Given the description of an element on the screen output the (x, y) to click on. 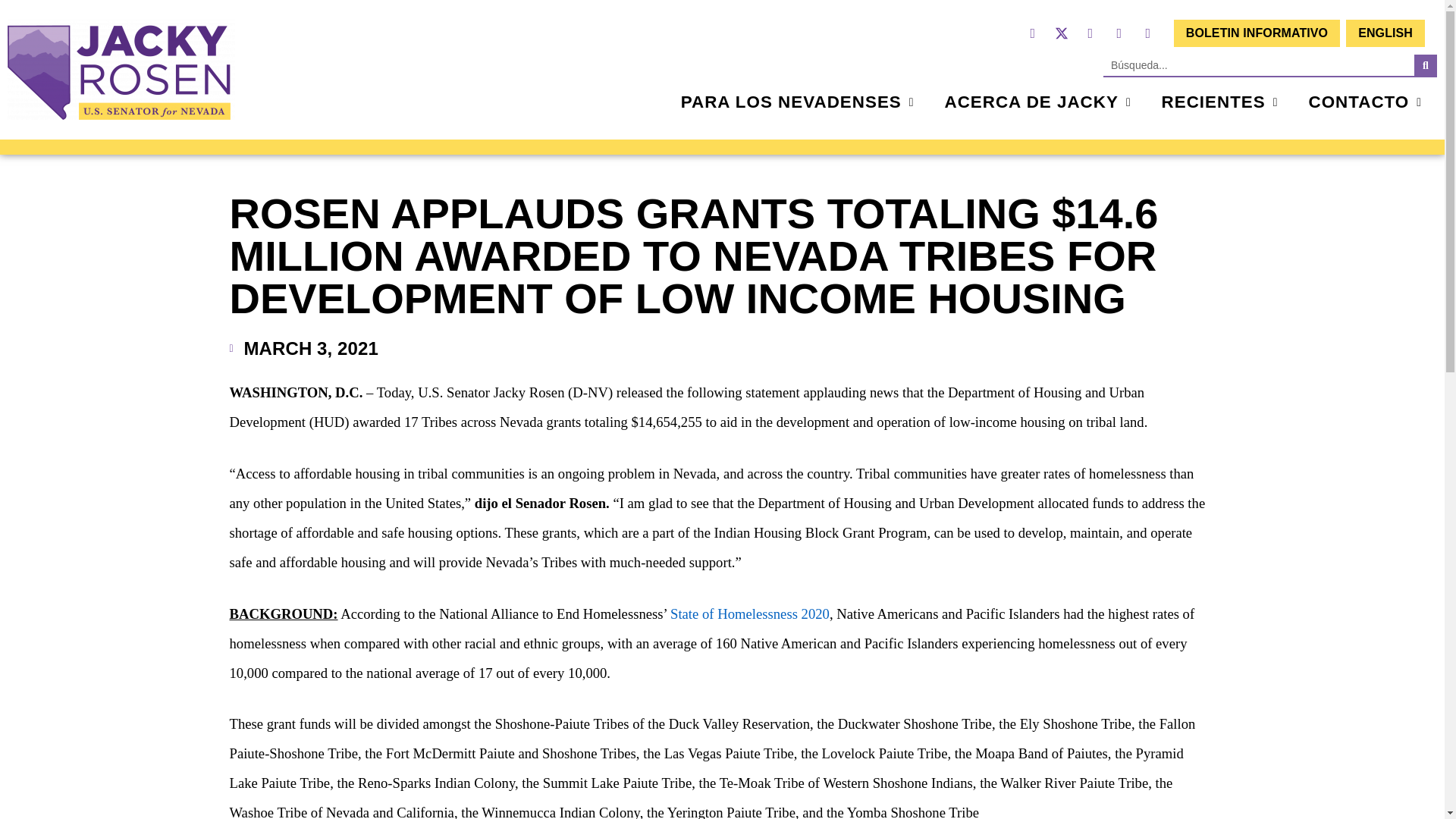
RECIENTES (1220, 102)
PARA LOS NEVADENSES (797, 102)
ACERCA DE JACKY (1036, 102)
